Given the description of an element on the screen output the (x, y) to click on. 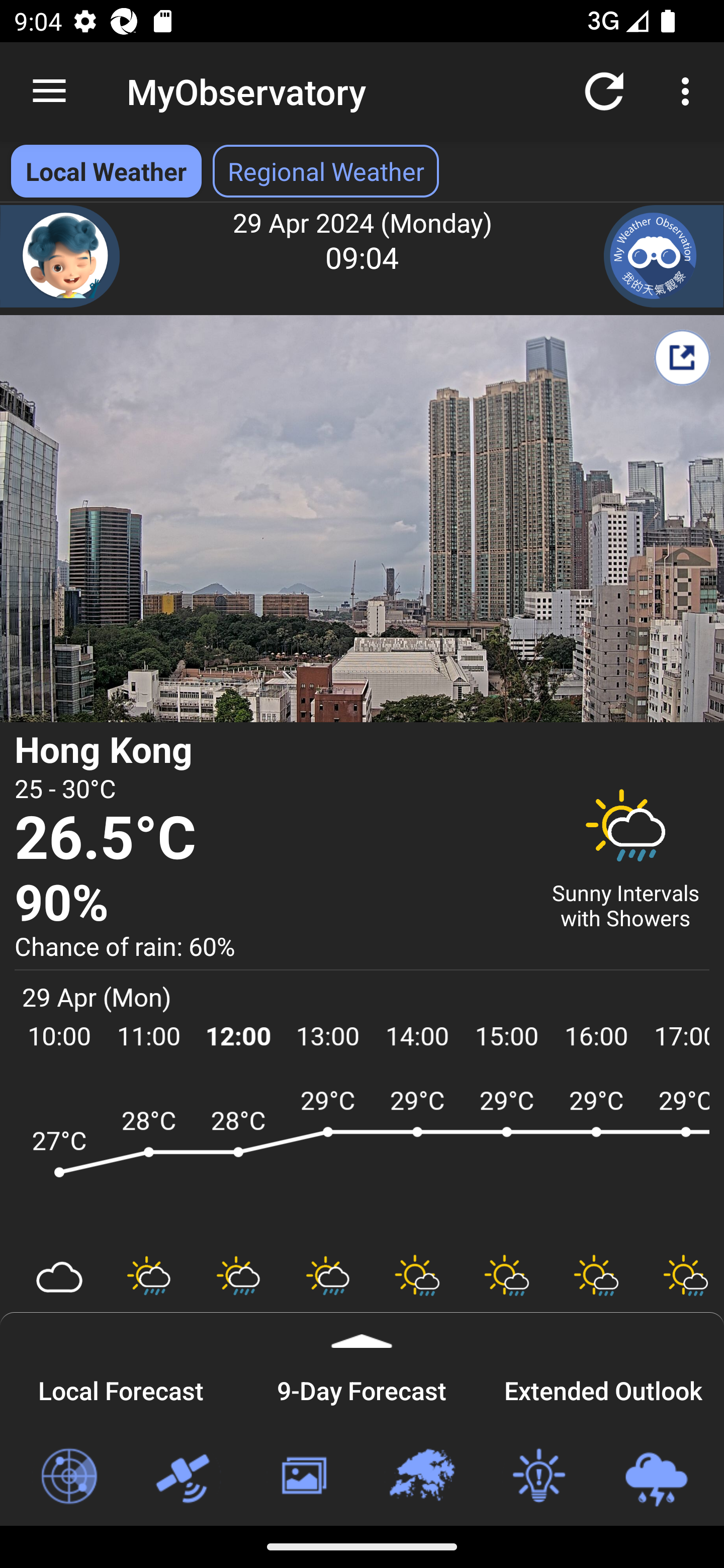
Navigate up (49, 91)
Refresh (604, 90)
More options (688, 90)
Local Weather Local Weather selected (105, 170)
Regional Weather Select Regional Weather (325, 170)
Chatbot (60, 256)
My Weather Observation (663, 256)
Share My Weather Report (681, 357)
26.5°C Temperature
26.5 degree Celsius (270, 839)
90% Relative Humidity
90 percent (270, 903)
ARWF (361, 1160)
Expand (362, 1330)
Local Forecast (120, 1387)
Extended Outlook (603, 1387)
Radar Images (68, 1476)
Satellite Images (185, 1476)
Weather Photos (302, 1476)
Regional Weather (420, 1476)
Weather Tips (537, 1476)
Loc-based Rain & Lightning Forecast (655, 1476)
